Given the description of an element on the screen output the (x, y) to click on. 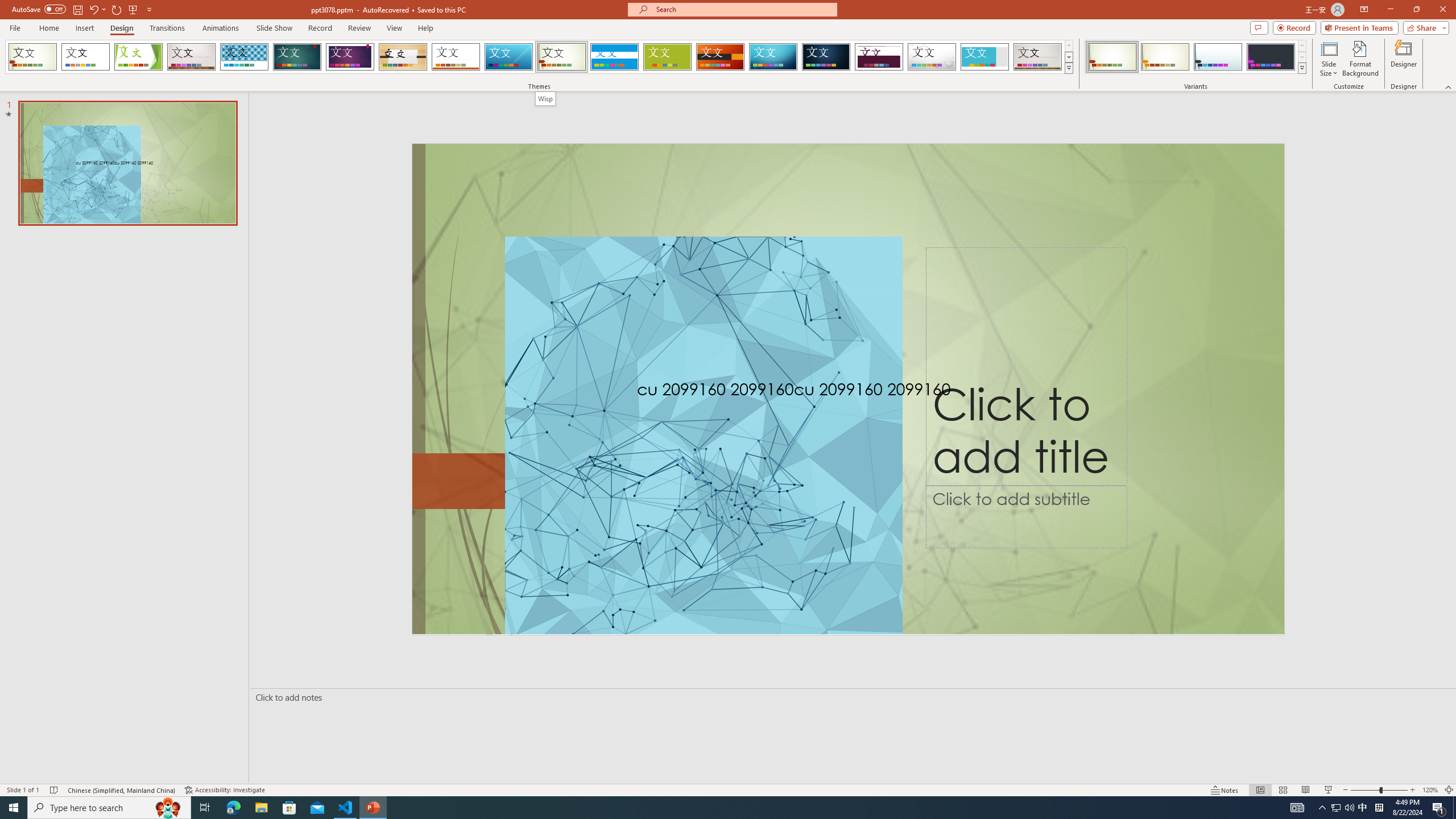
Integral Loading Preview... (244, 56)
Spell Check No Errors (54, 790)
Save (77, 9)
Home (48, 28)
Class: MsoCommandBar (728, 789)
Wisp Variant 3 (1217, 56)
Slice Loading Preview... (508, 56)
Gallery (191, 56)
AutomationID: SlideThemesGallery (539, 56)
